Given the description of an element on the screen output the (x, y) to click on. 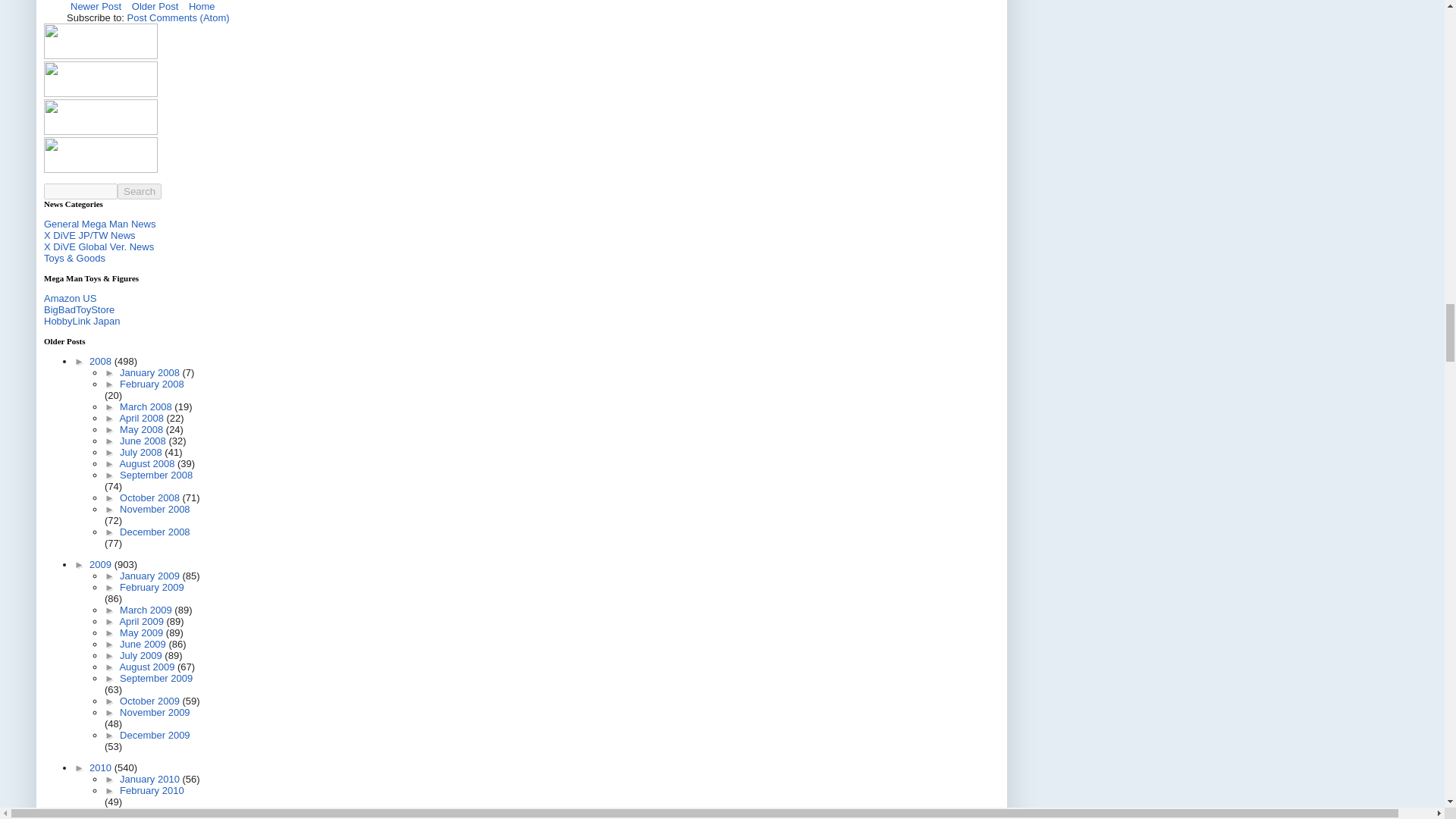
Search (139, 191)
Older Post (155, 7)
Newer Post (95, 7)
Search (139, 191)
search (80, 191)
search (139, 191)
